Given the description of an element on the screen output the (x, y) to click on. 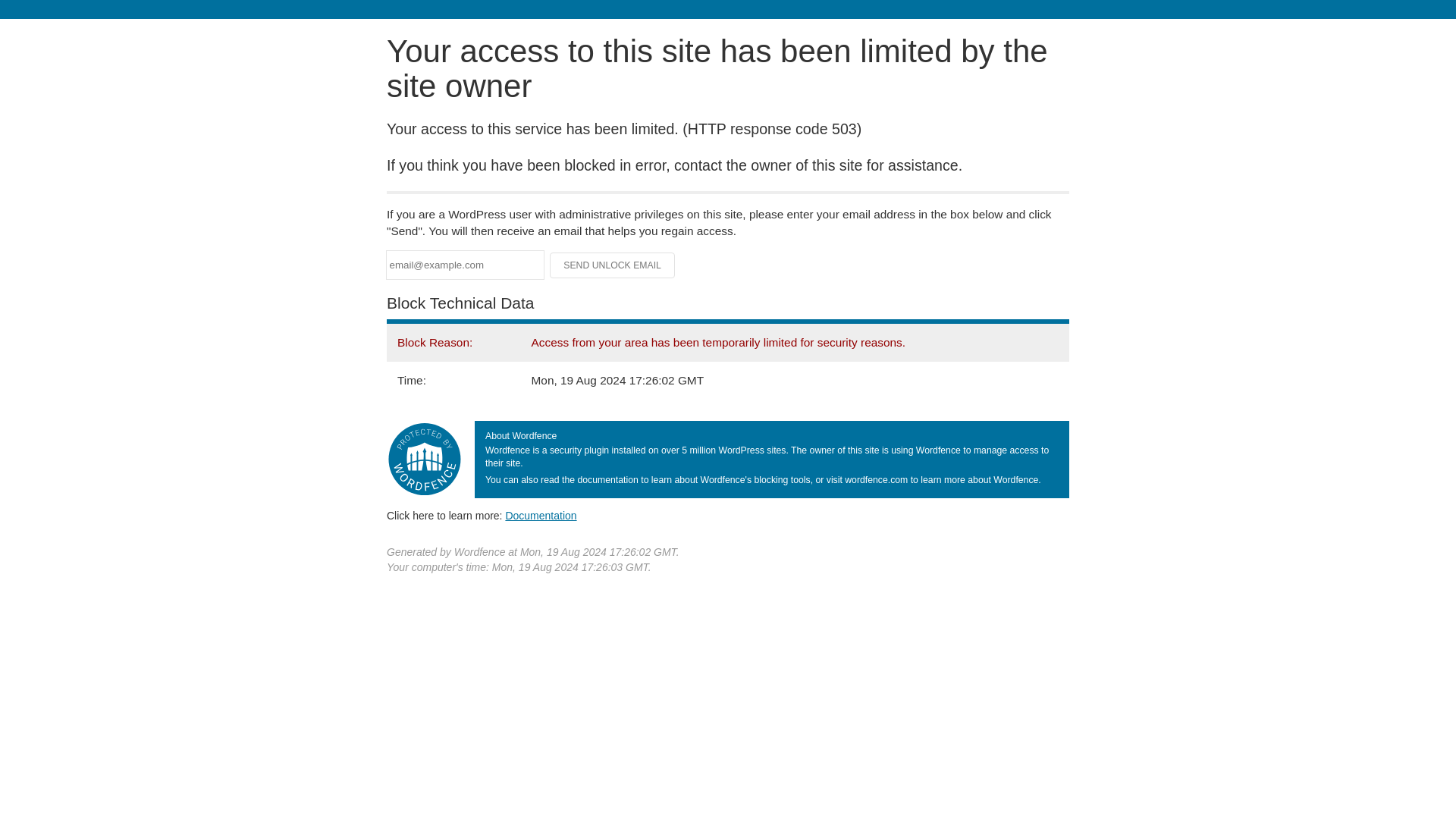
Documentation (540, 515)
Send Unlock Email (612, 265)
Send Unlock Email (612, 265)
